Given the description of an element on the screen output the (x, y) to click on. 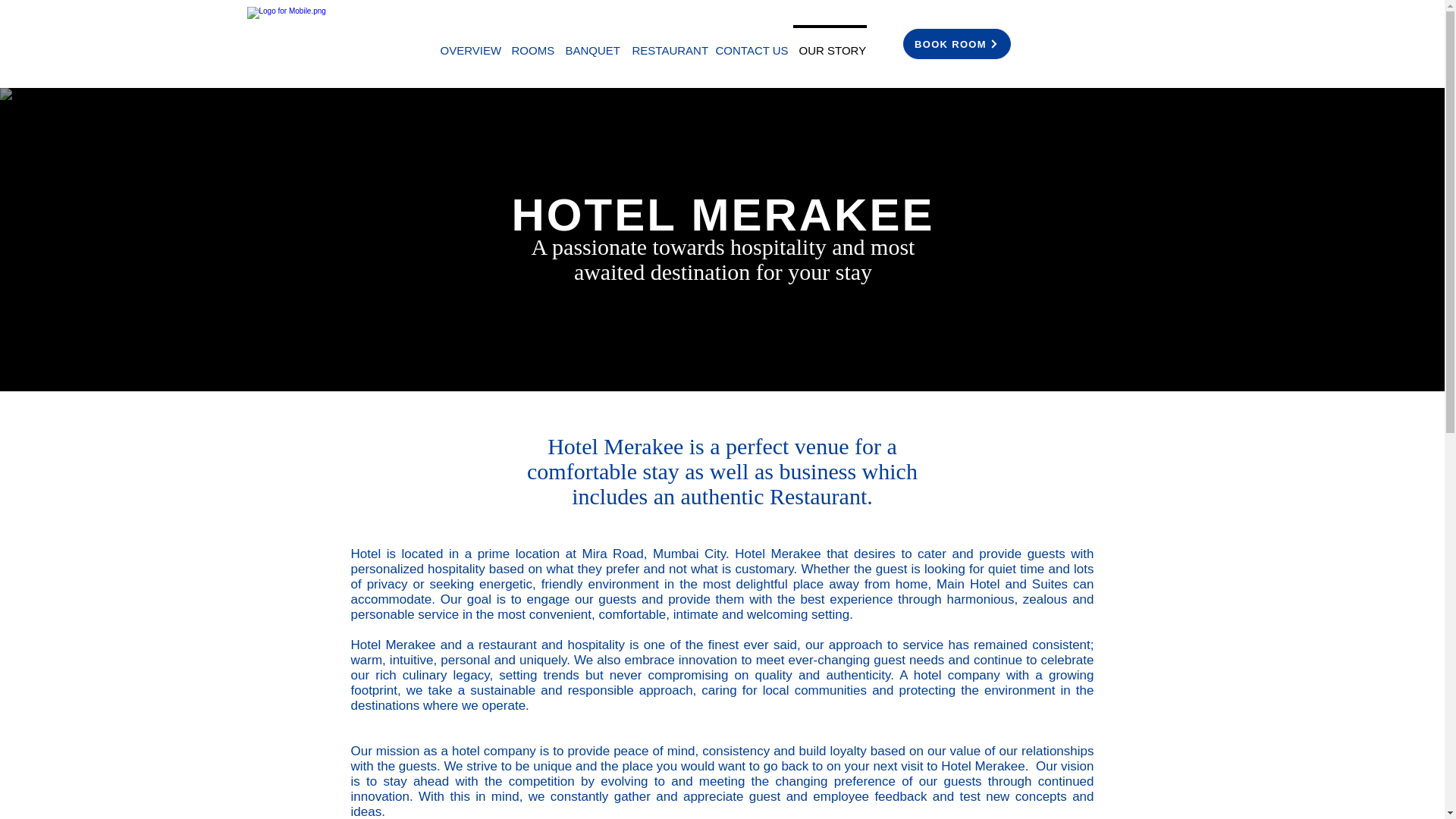
BANQUET (592, 44)
BOOK ROOM (956, 43)
CONTACT US (751, 44)
OUR STORY (829, 44)
ROOMS (532, 44)
OVERVIEW (469, 44)
RESTAURANT (668, 44)
